Given the description of an element on the screen output the (x, y) to click on. 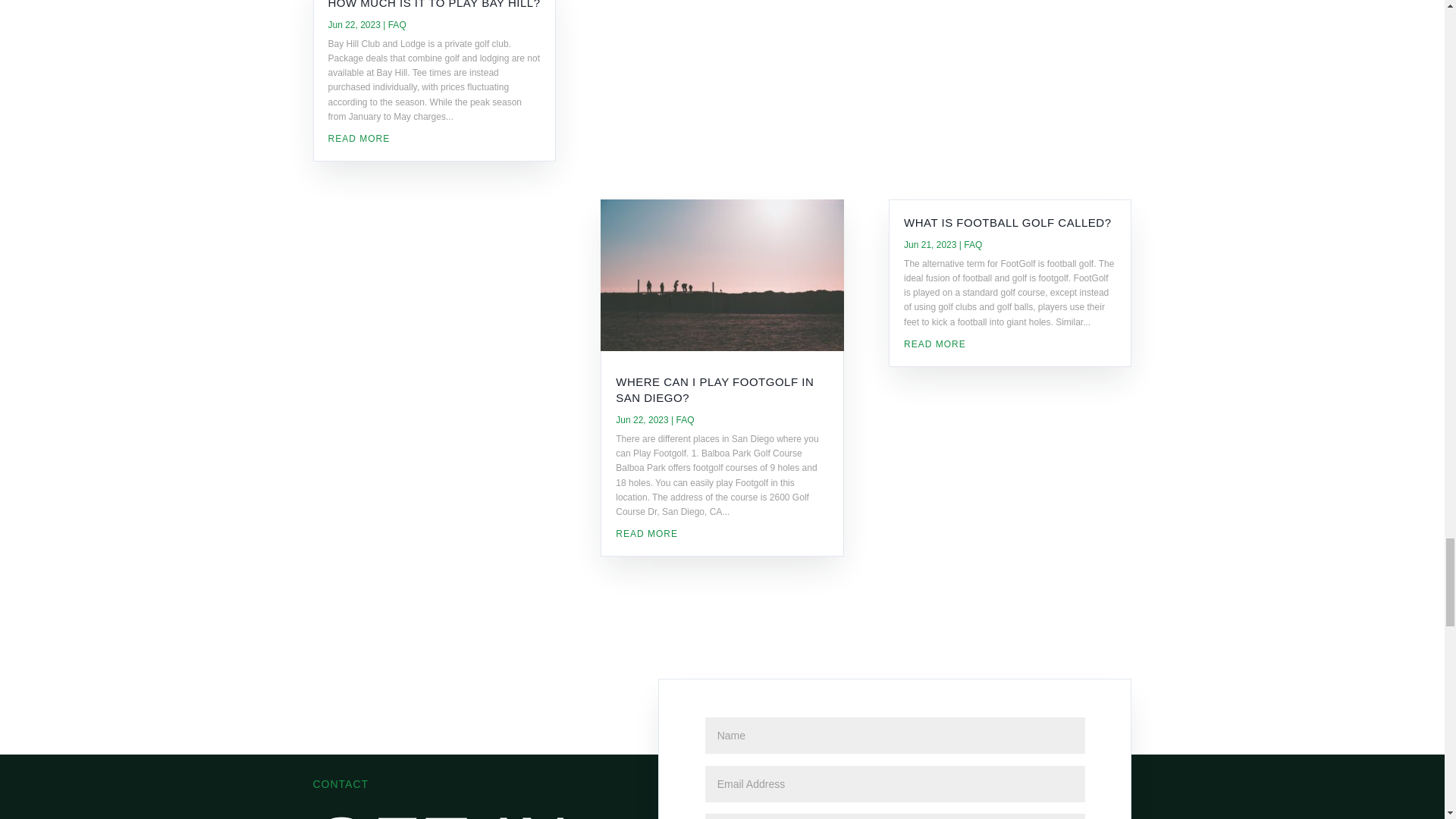
FAQ (397, 24)
FAQ (684, 419)
READ MORE (1010, 344)
HOW MUCH IS IT TO PLAY BAY HILL? (433, 4)
WHERE CAN I PLAY FOOTGOLF IN SAN DIEGO? (714, 389)
FAQ (972, 244)
READ MORE (433, 138)
WHAT IS FOOTBALL GOLF CALLED? (1007, 222)
READ MORE (721, 534)
